Given the description of an element on the screen output the (x, y) to click on. 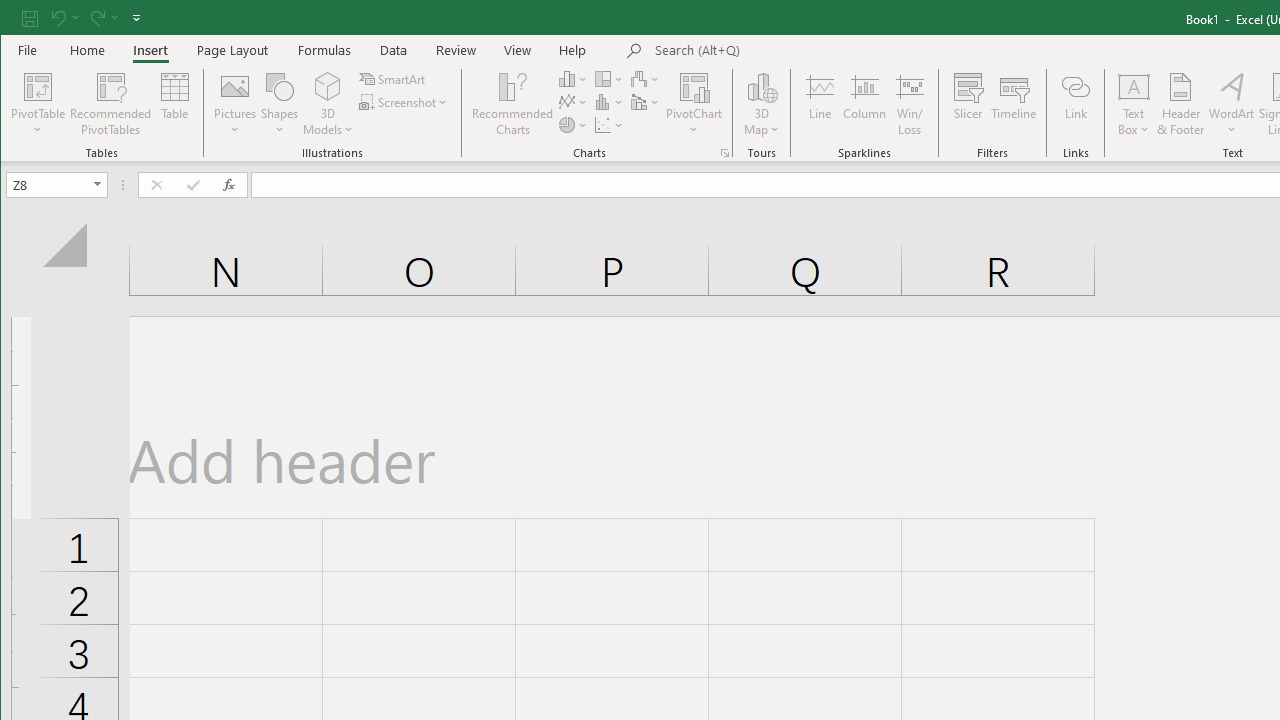
Line (819, 104)
SmartArt... (393, 78)
Recommended PivotTables (110, 104)
Recommended Charts (724, 152)
Insert Statistic Chart (609, 101)
3D Models (327, 104)
Insert Column or Bar Chart (573, 78)
